Given the description of an element on the screen output the (x, y) to click on. 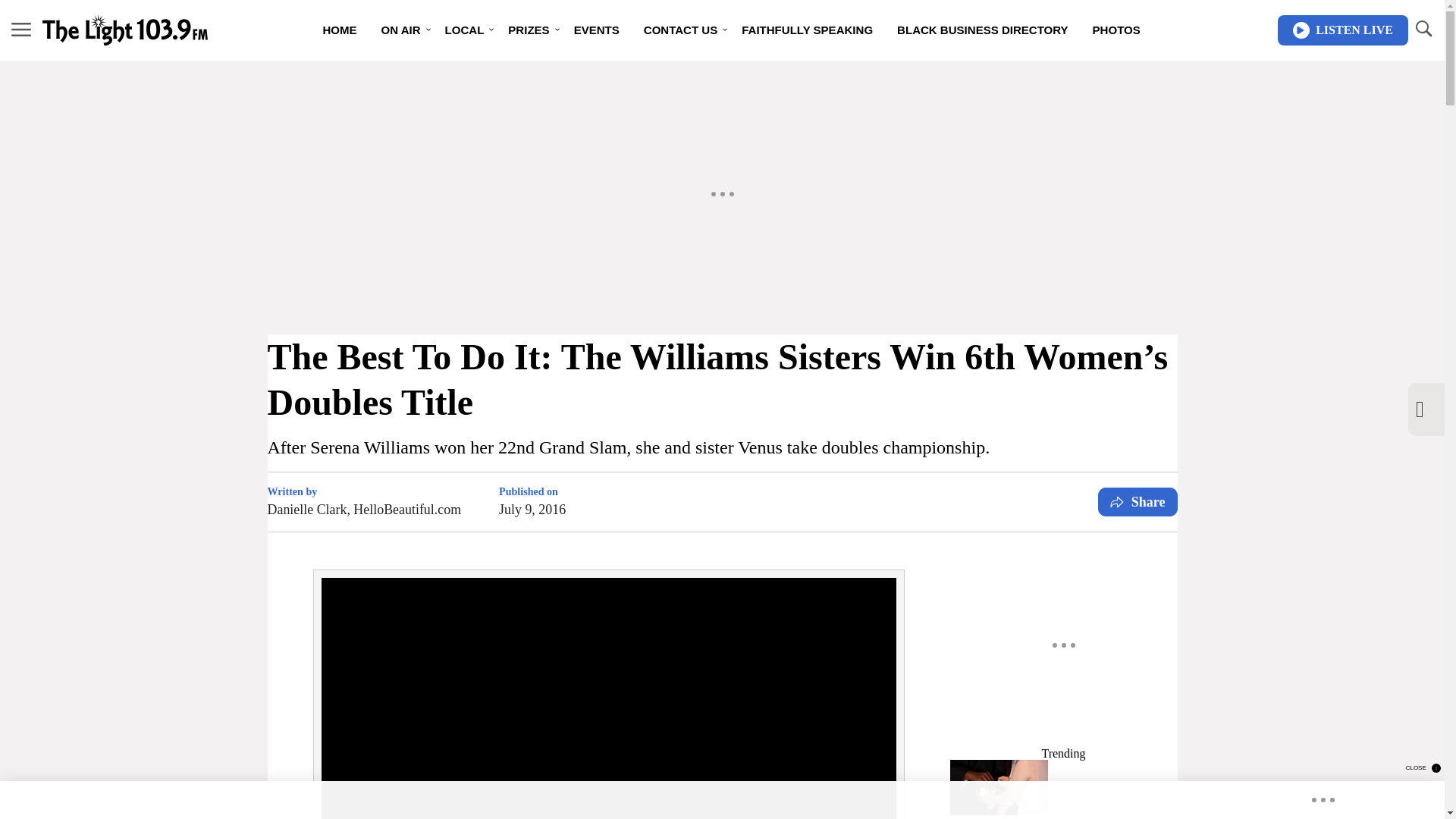
MENU (20, 29)
FAITHFULLY SPEAKING (807, 30)
PHOTOS (1116, 30)
PRIZES (528, 30)
BLACK BUSINESS DIRECTORY (982, 30)
TOGGLE SEARCH (1422, 28)
LISTEN LIVE (1342, 30)
Danielle Clark, HelloBeautiful.com (363, 509)
TOGGLE SEARCH (1422, 30)
CONTACT US (680, 30)
